Given the description of an element on the screen output the (x, y) to click on. 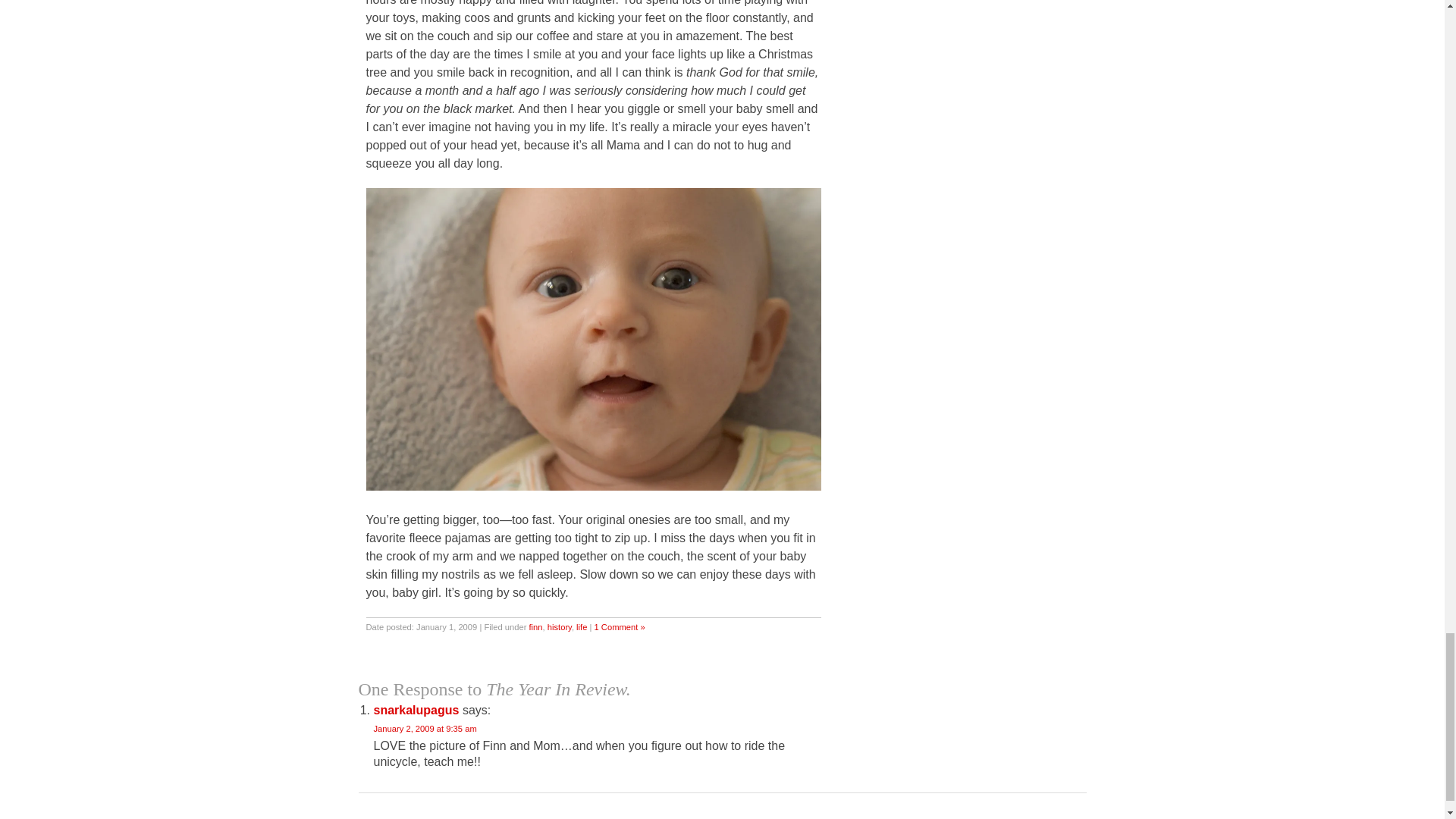
happy face by idiot king, on Flickr (593, 486)
life (581, 626)
finn (534, 626)
snarkalupagus (415, 709)
January 2, 2009 at 9:35 am (424, 728)
history (559, 626)
